Given the description of an element on the screen output the (x, y) to click on. 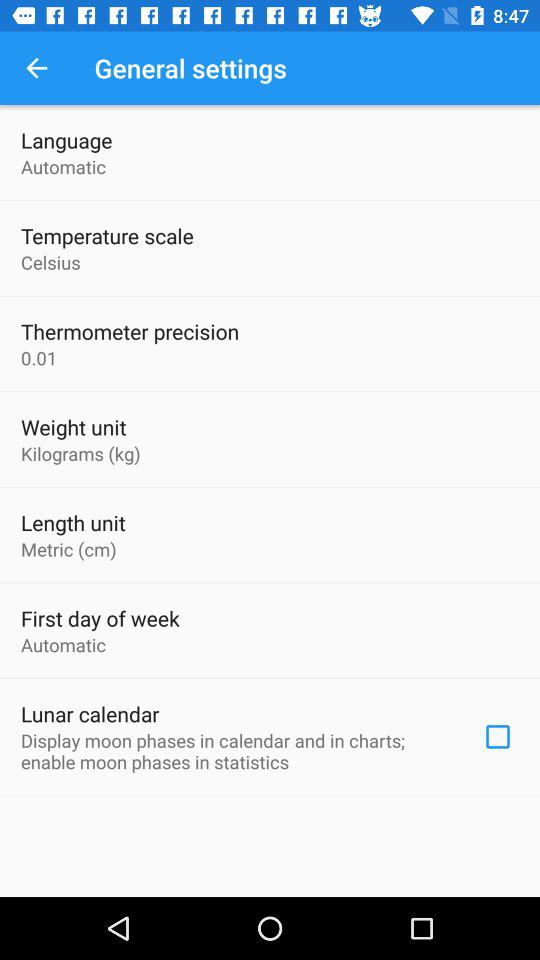
choose the icon to the left of general settings item (36, 68)
